Given the description of an element on the screen output the (x, y) to click on. 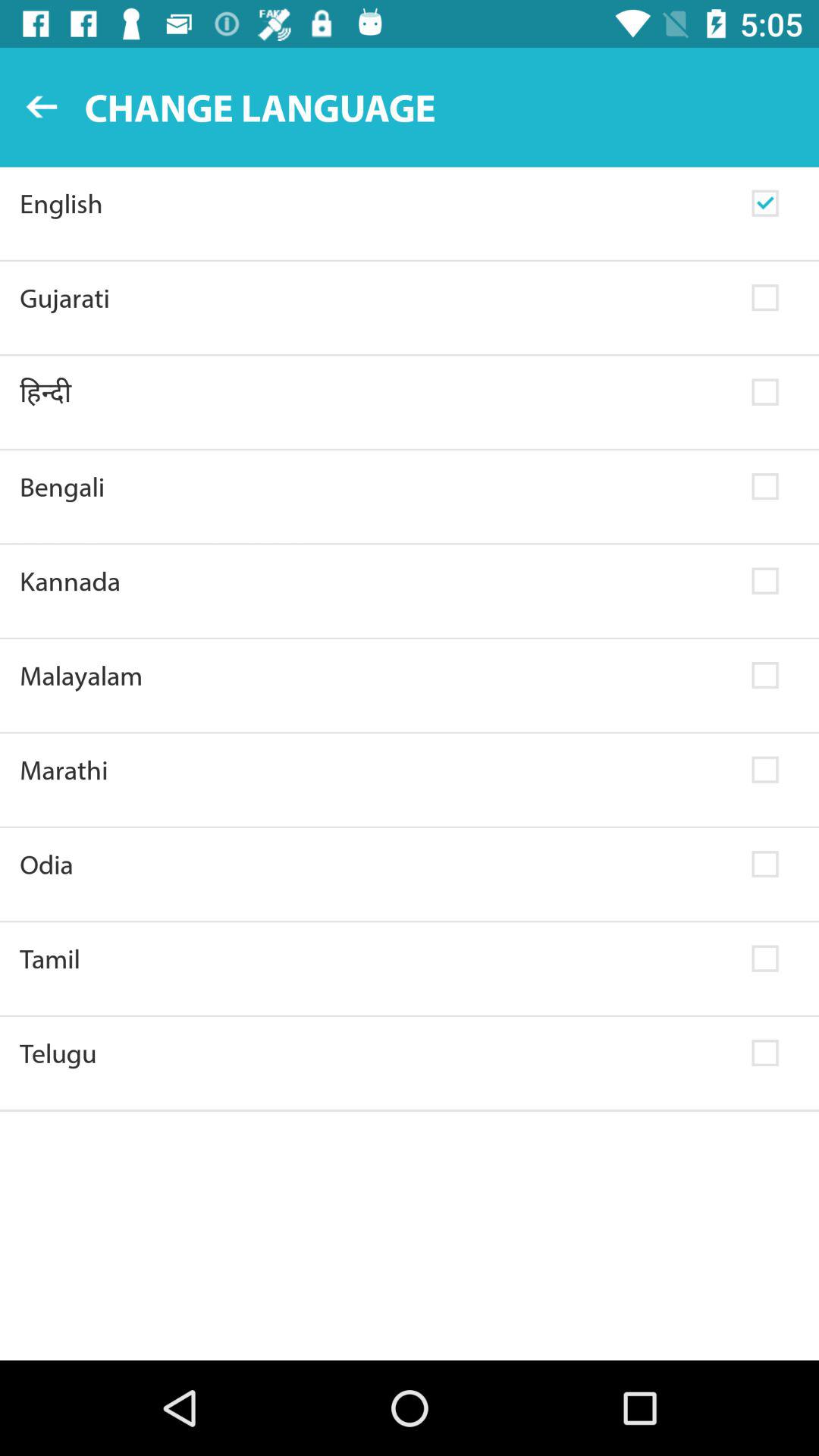
scroll until kannada (375, 580)
